Given the description of an element on the screen output the (x, y) to click on. 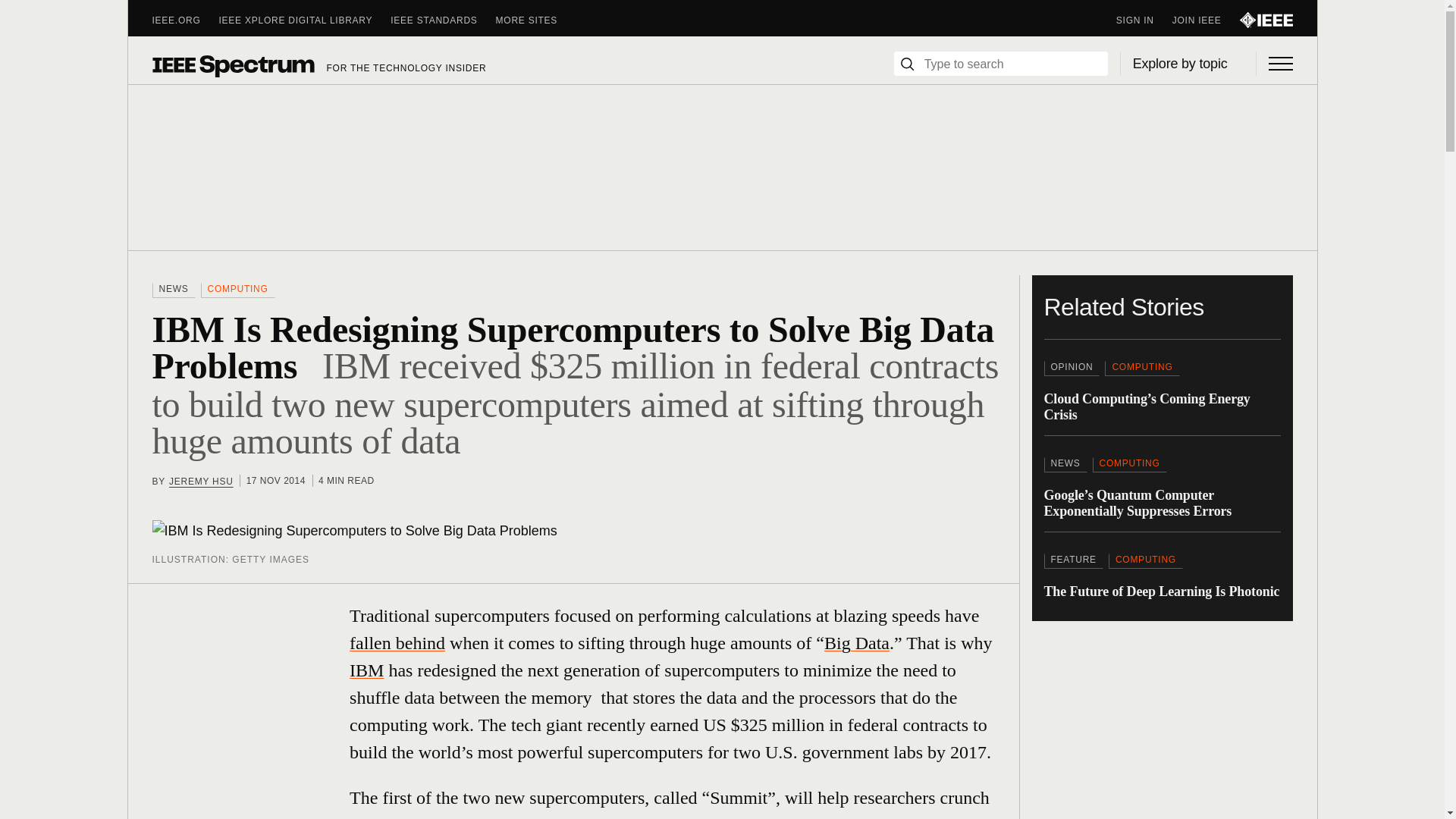
IEEE XPLORE DIGITAL LIBRARY (305, 20)
SIGN IN (1144, 20)
IEEE.ORG (184, 20)
Spectrum Logo (232, 64)
Search (907, 63)
JOIN IEEE (1206, 20)
MORE SITES (536, 20)
IEEE STANDARDS (442, 20)
